Given the description of an element on the screen output the (x, y) to click on. 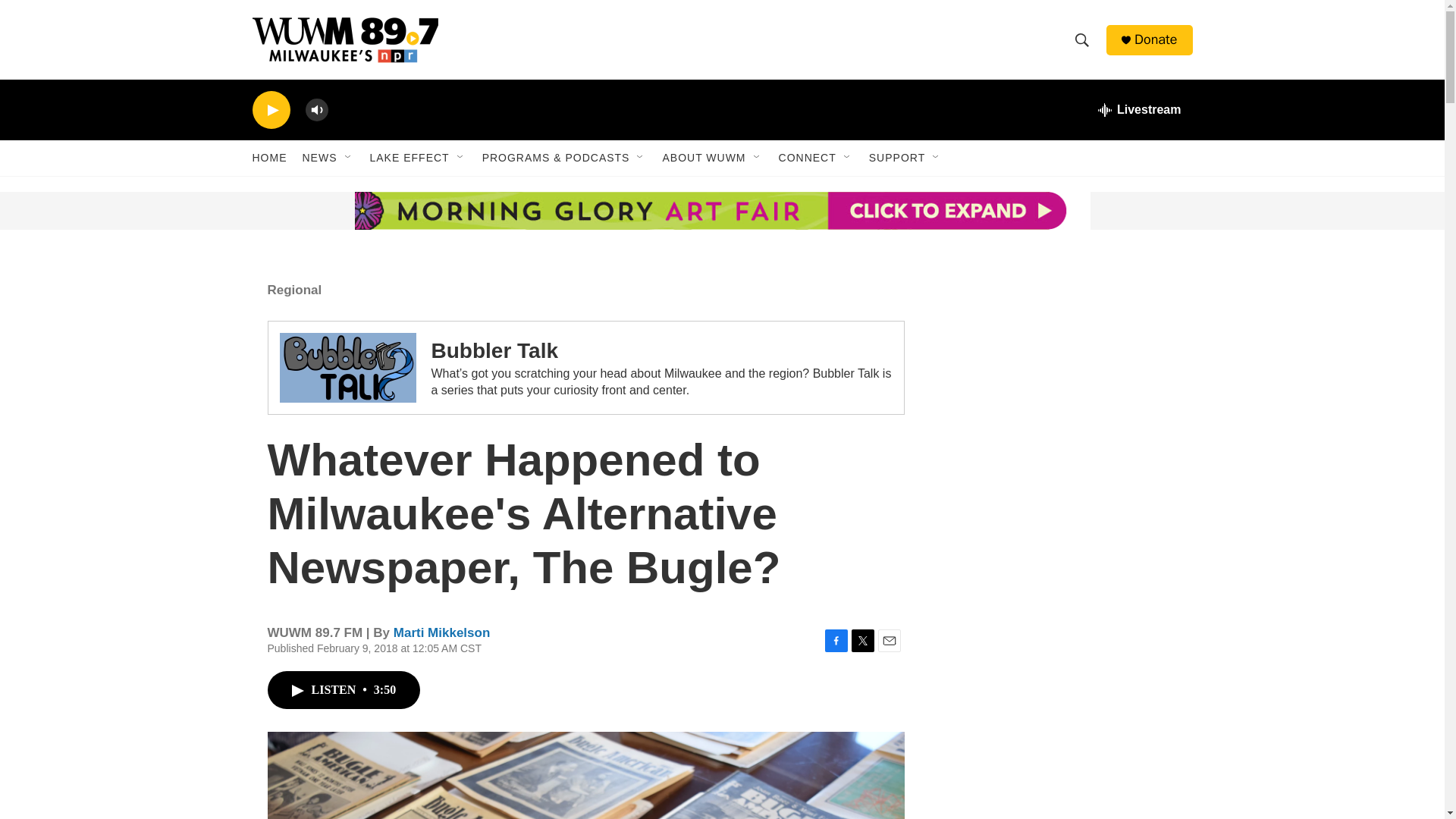
3rd party ad content (367, 210)
3rd party ad content (1062, 589)
3rd party ad content (1062, 370)
